Given the description of an element on the screen output the (x, y) to click on. 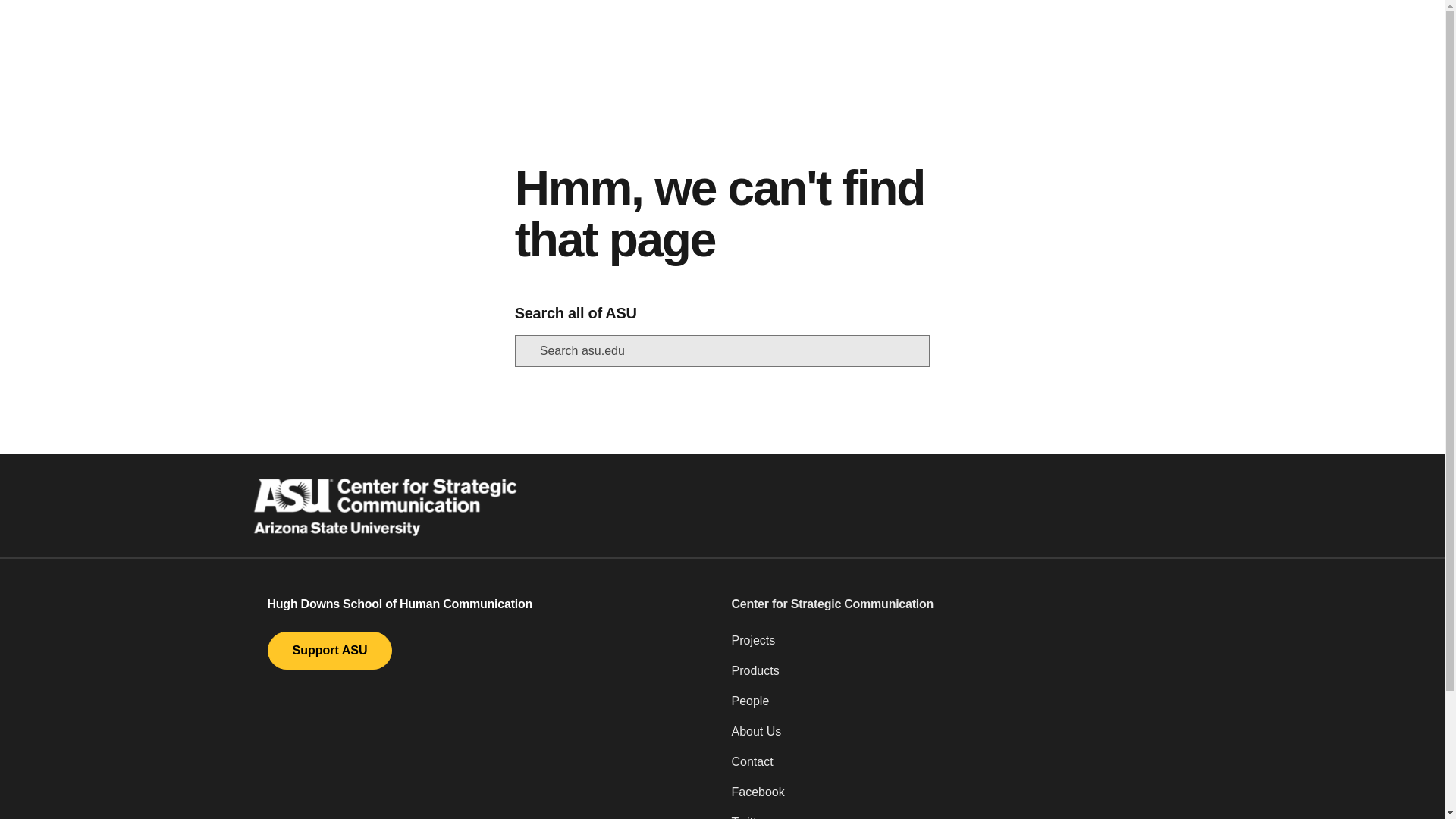
Support ASU (328, 650)
People (953, 707)
Products (953, 676)
Contact (953, 767)
About Us (953, 737)
Center for Strategic Communication (953, 604)
Projects (953, 646)
Facebook (953, 798)
